Given the description of an element on the screen output the (x, y) to click on. 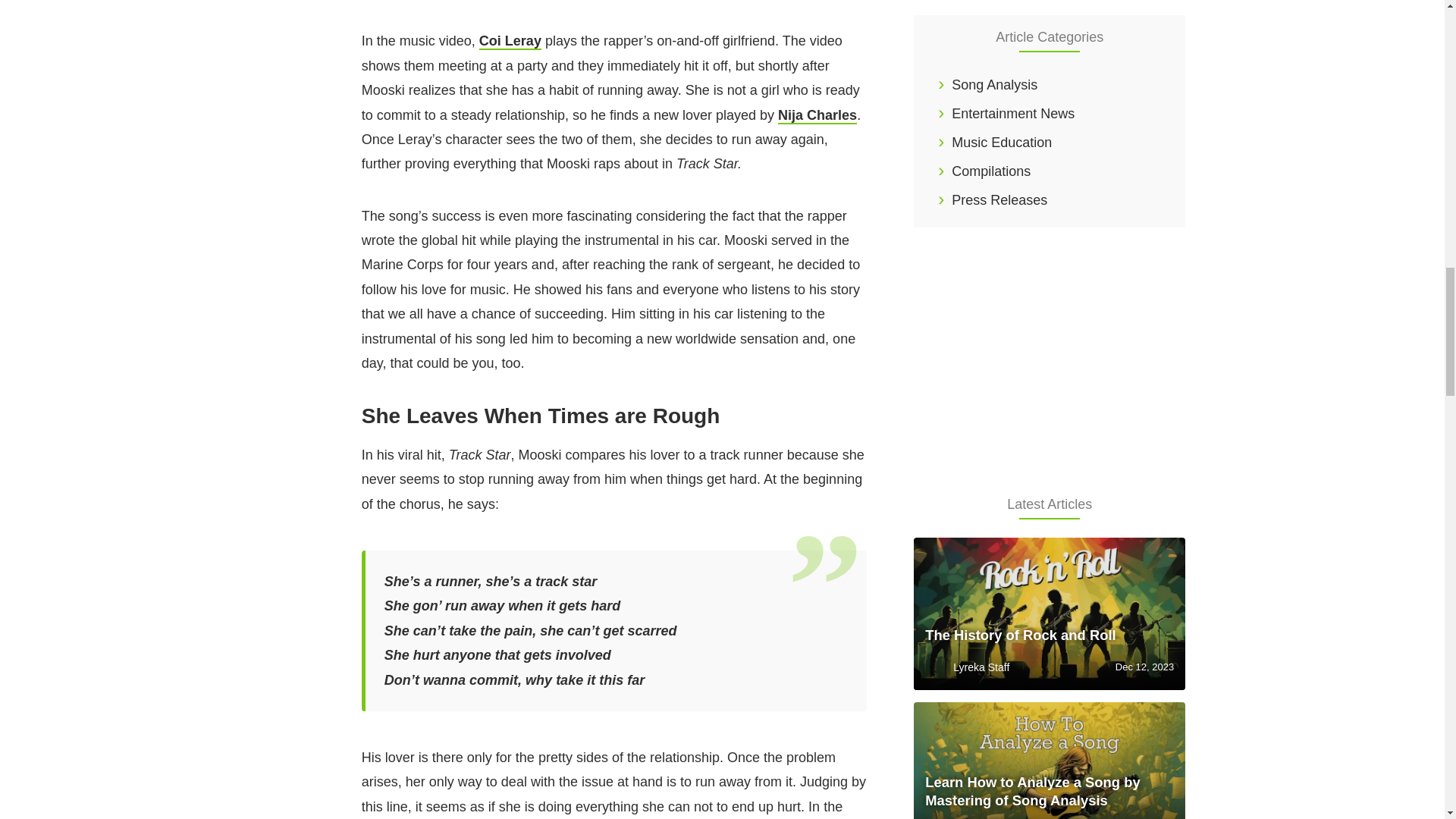
Coi Leray (510, 41)
